Given the description of an element on the screen output the (x, y) to click on. 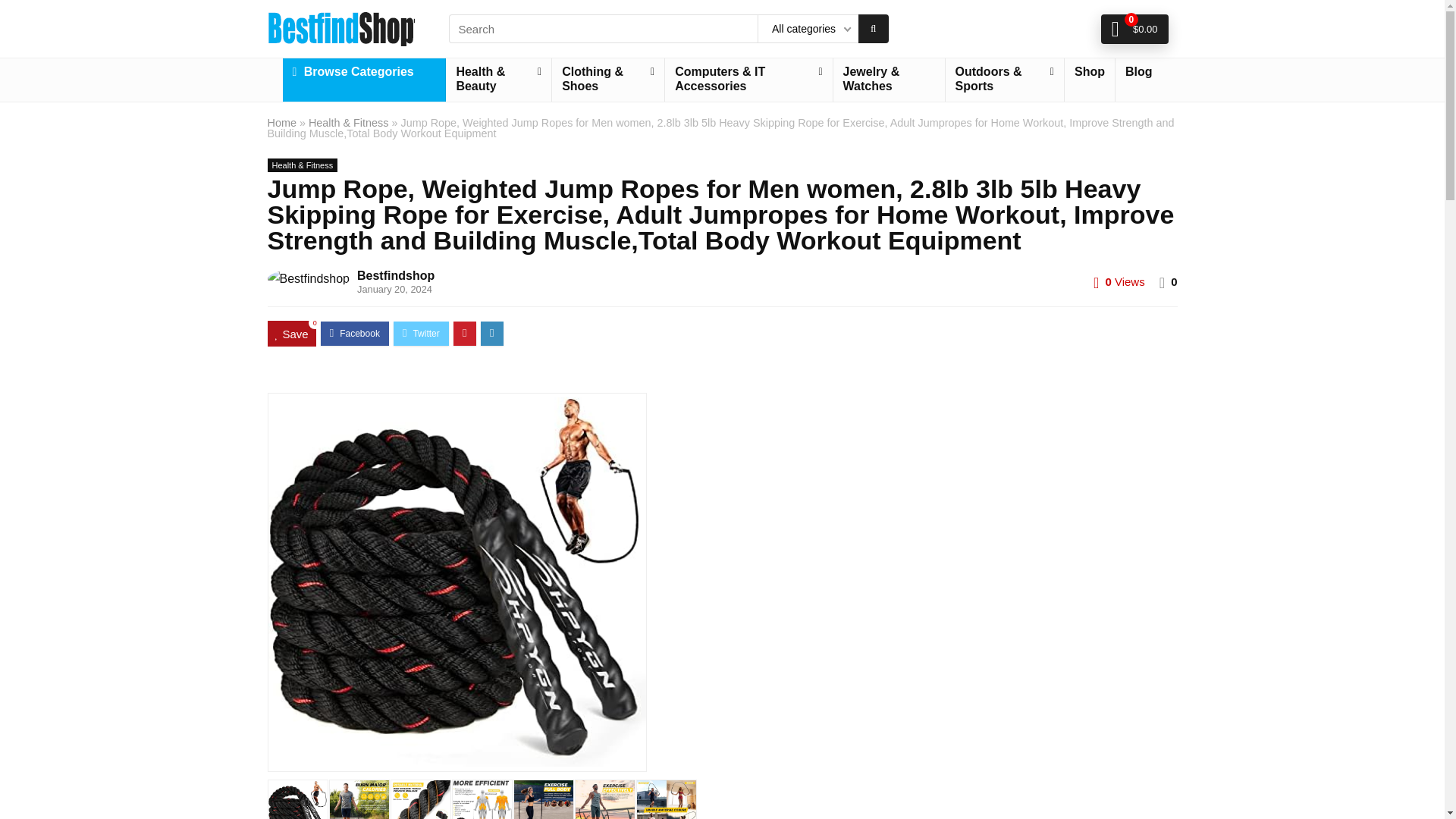
Browse Categories (363, 72)
Bestfindshop (394, 275)
Shop (1089, 72)
Blog (1138, 72)
Home (280, 122)
